Given the description of an element on the screen output the (x, y) to click on. 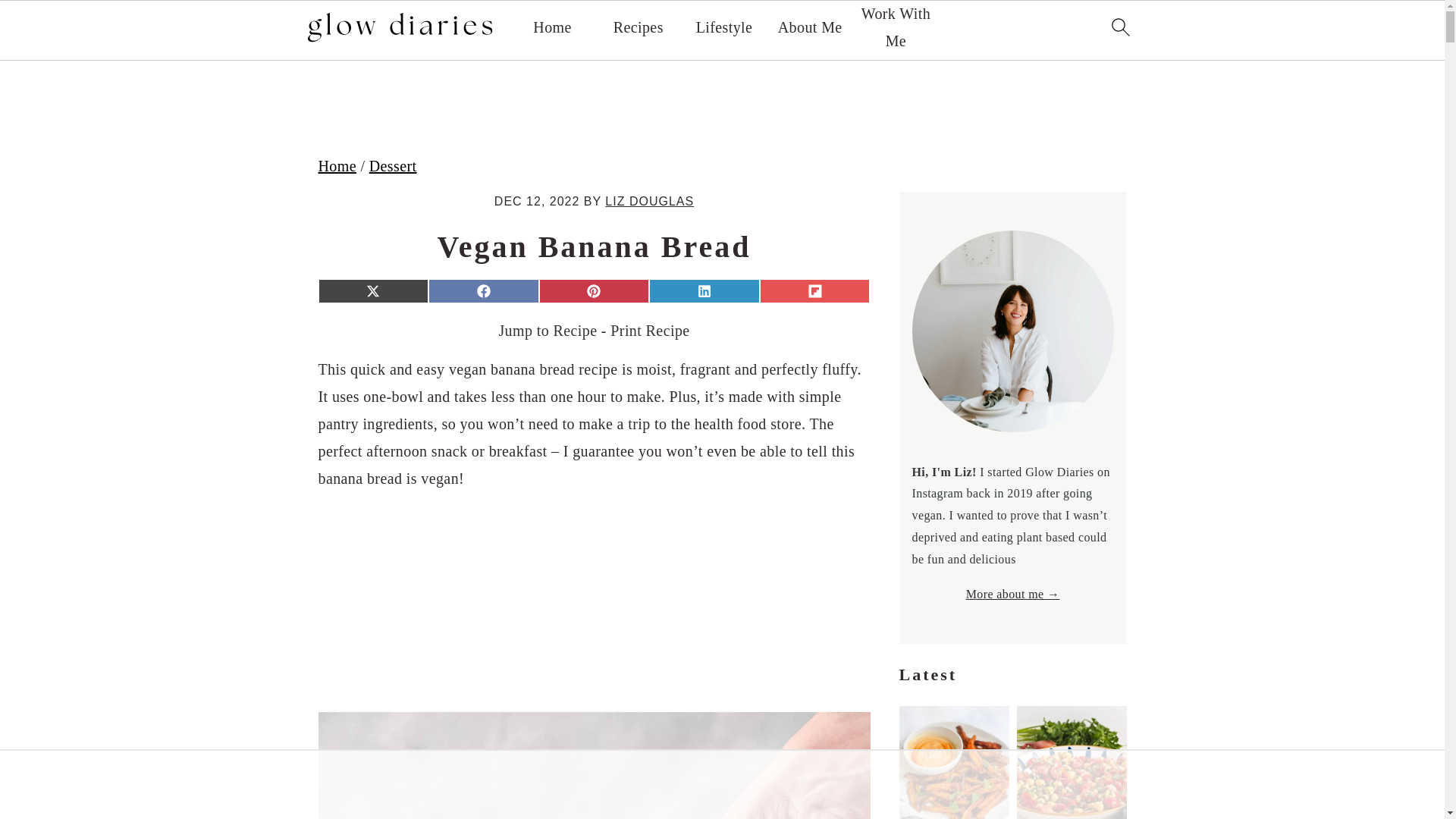
search icon (1119, 26)
SHARE ON LINKEDIN (704, 291)
Home (551, 26)
SHARE ON FACEBOOK (483, 291)
SHARE ON PINTEREST (593, 291)
Recipes (637, 26)
Work With Me (895, 27)
SHARE ON FLIP IT (815, 291)
Dessert (392, 166)
LIZ DOUGLAS (649, 201)
Jump to Recipe (546, 330)
Lifestyle (723, 26)
Home (337, 166)
About Me (810, 26)
